Given the description of an element on the screen output the (x, y) to click on. 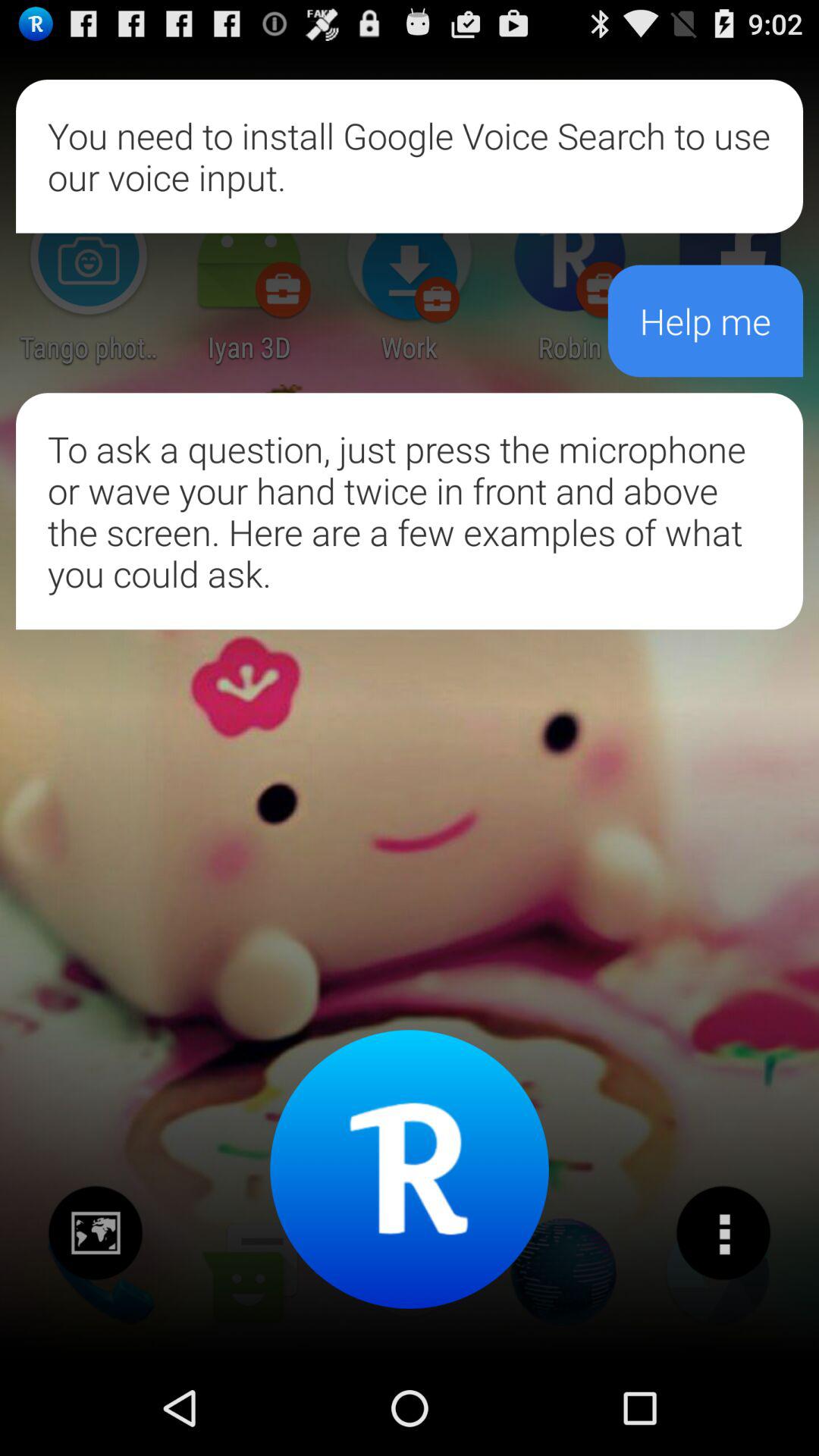
customize options (723, 1232)
